Given the description of an element on the screen output the (x, y) to click on. 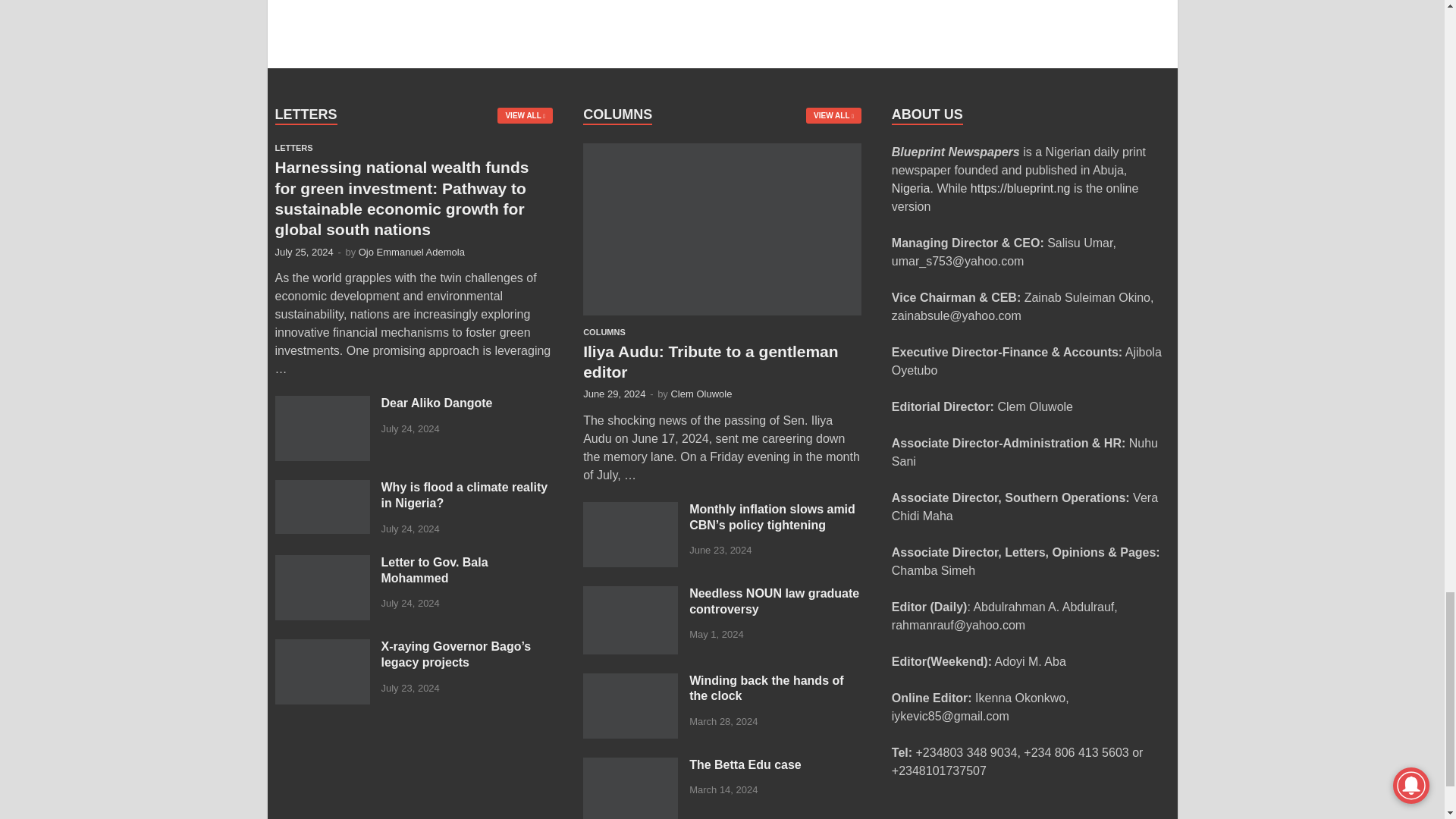
Iliya Audu: Tribute to a gentleman editor (722, 151)
Dear Aliko Dangote (322, 404)
Needless NOUN law graduate controversy (630, 594)
Why is flood a climate reality in Nigeria? (322, 488)
